Given the description of an element on the screen output the (x, y) to click on. 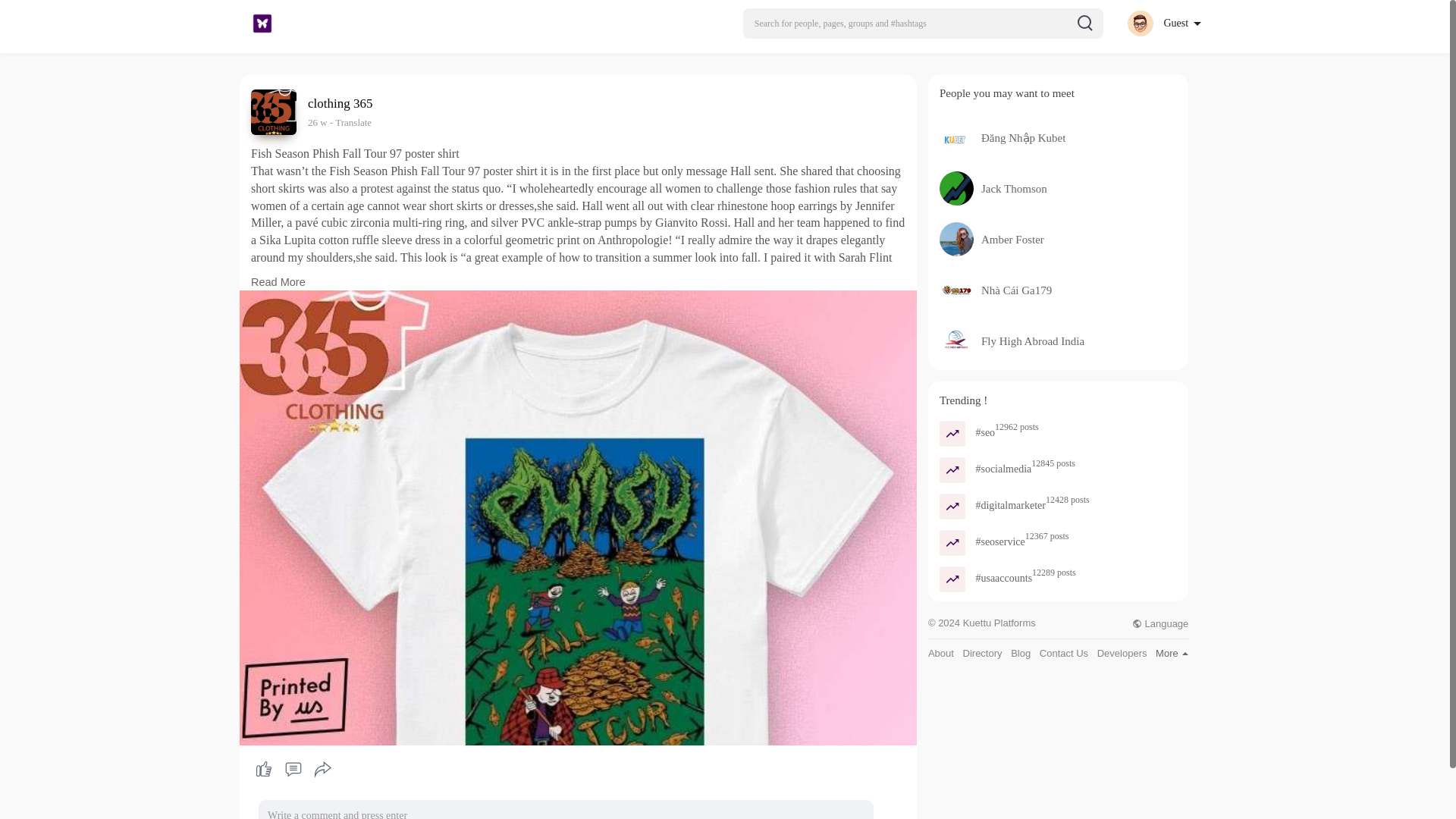
About (940, 653)
Comments (293, 769)
Developers (1122, 653)
Directory (982, 653)
Read More (277, 282)
Translate (350, 122)
26 w (317, 122)
Fly High Abroad India (1032, 340)
clothing 365 (342, 103)
Fly High Abroad India (1032, 340)
